Given the description of an element on the screen output the (x, y) to click on. 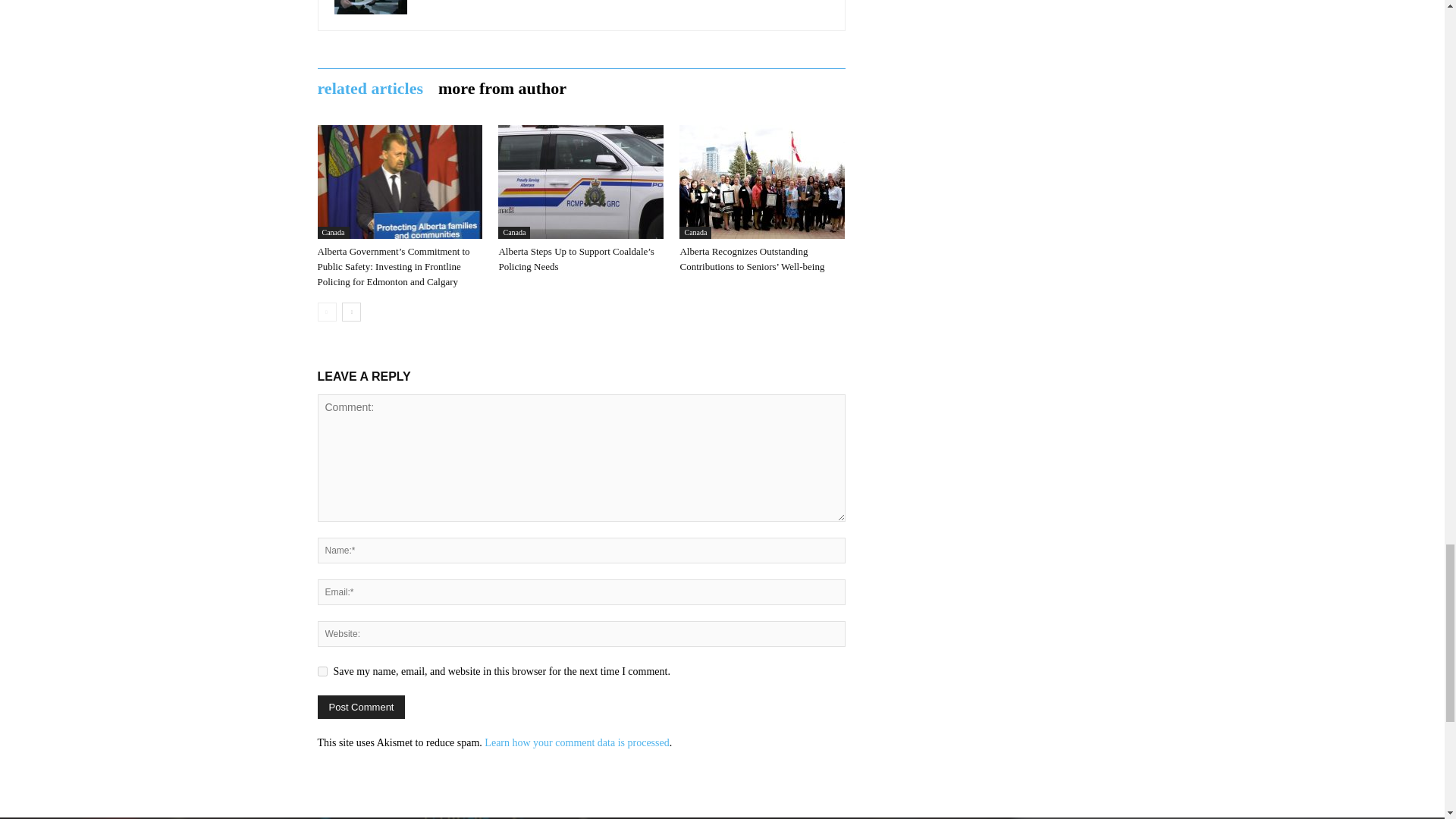
Post Comment (360, 707)
yes (321, 671)
